Given the description of an element on the screen output the (x, y) to click on. 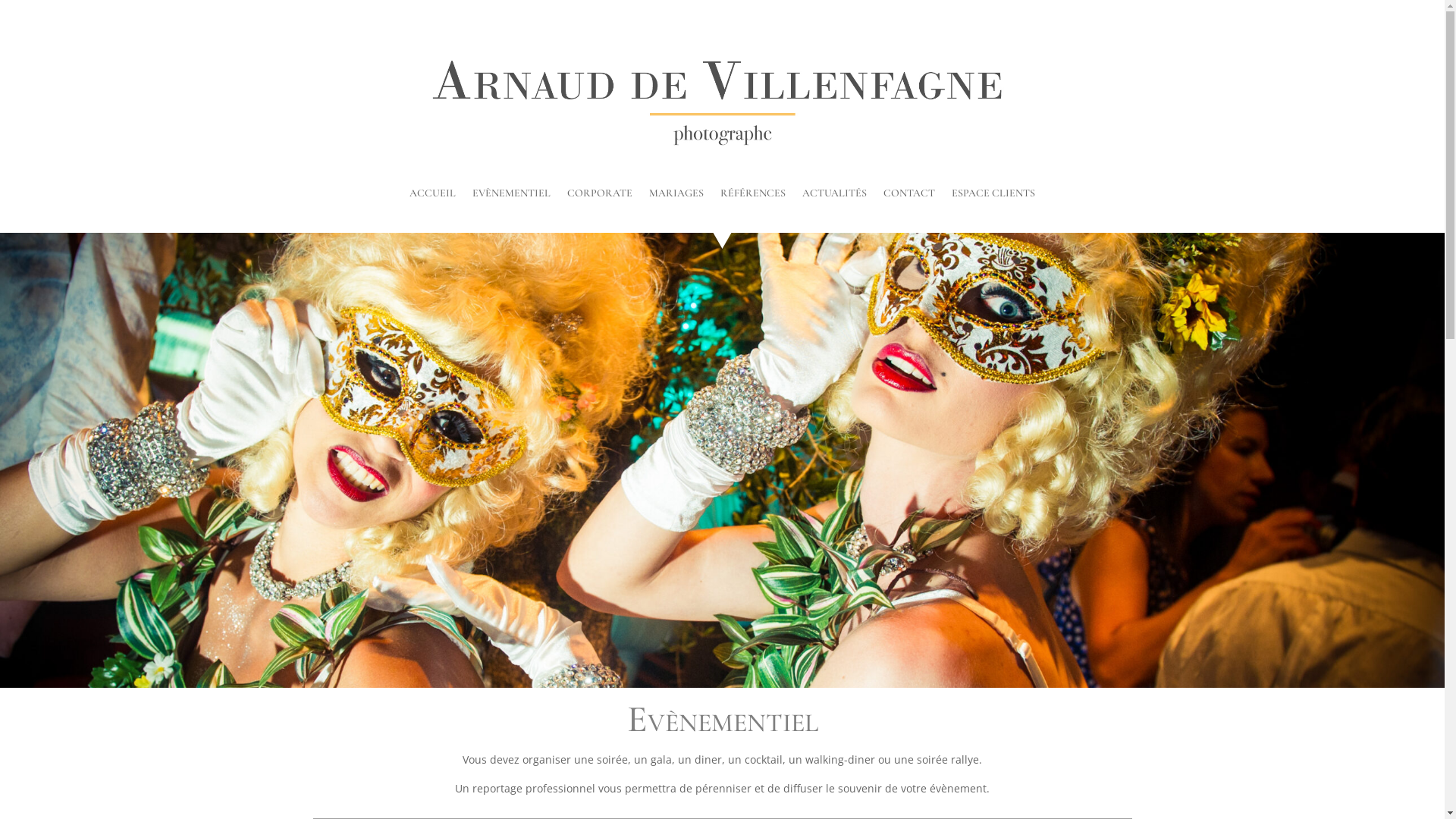
CORPORATE Element type: text (599, 196)
CONTACT Element type: text (909, 196)
ACCUEIL Element type: text (432, 196)
ESPACE CLIENTS Element type: text (993, 196)
Arnaud-de-Villenfagne-photographe Element type: hover (721, 100)
MARIAGES Element type: text (676, 196)
